Given the description of an element on the screen output the (x, y) to click on. 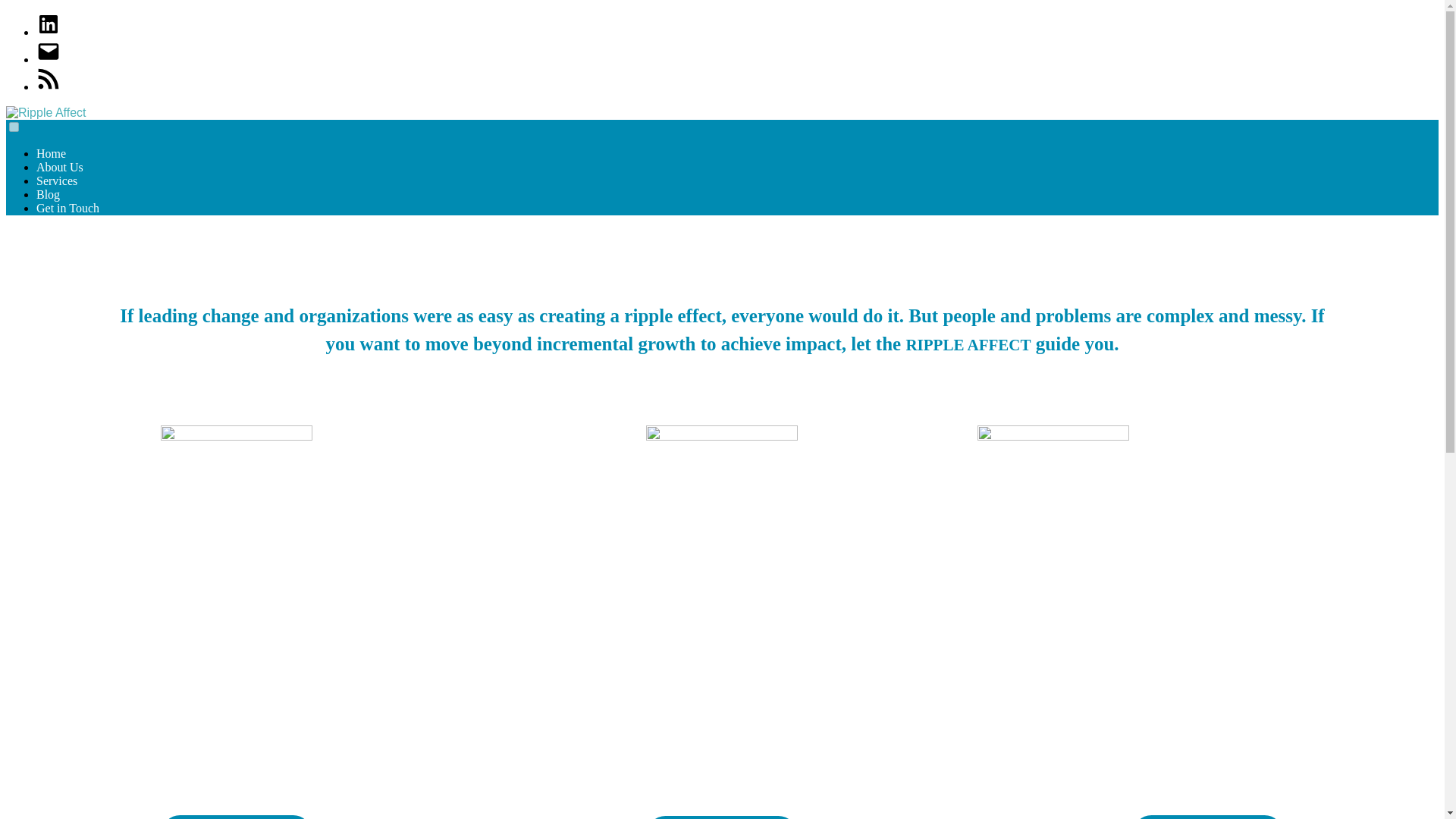
LEARN MORE (1207, 816)
on (13, 126)
Get in Touch (67, 207)
About Us (59, 166)
LinkedIn (48, 31)
LEARN MORE (721, 817)
Email (48, 59)
Home (50, 153)
LEARN MORE (236, 816)
Feed (48, 86)
Blog (47, 194)
Services (56, 180)
